Given the description of an element on the screen output the (x, y) to click on. 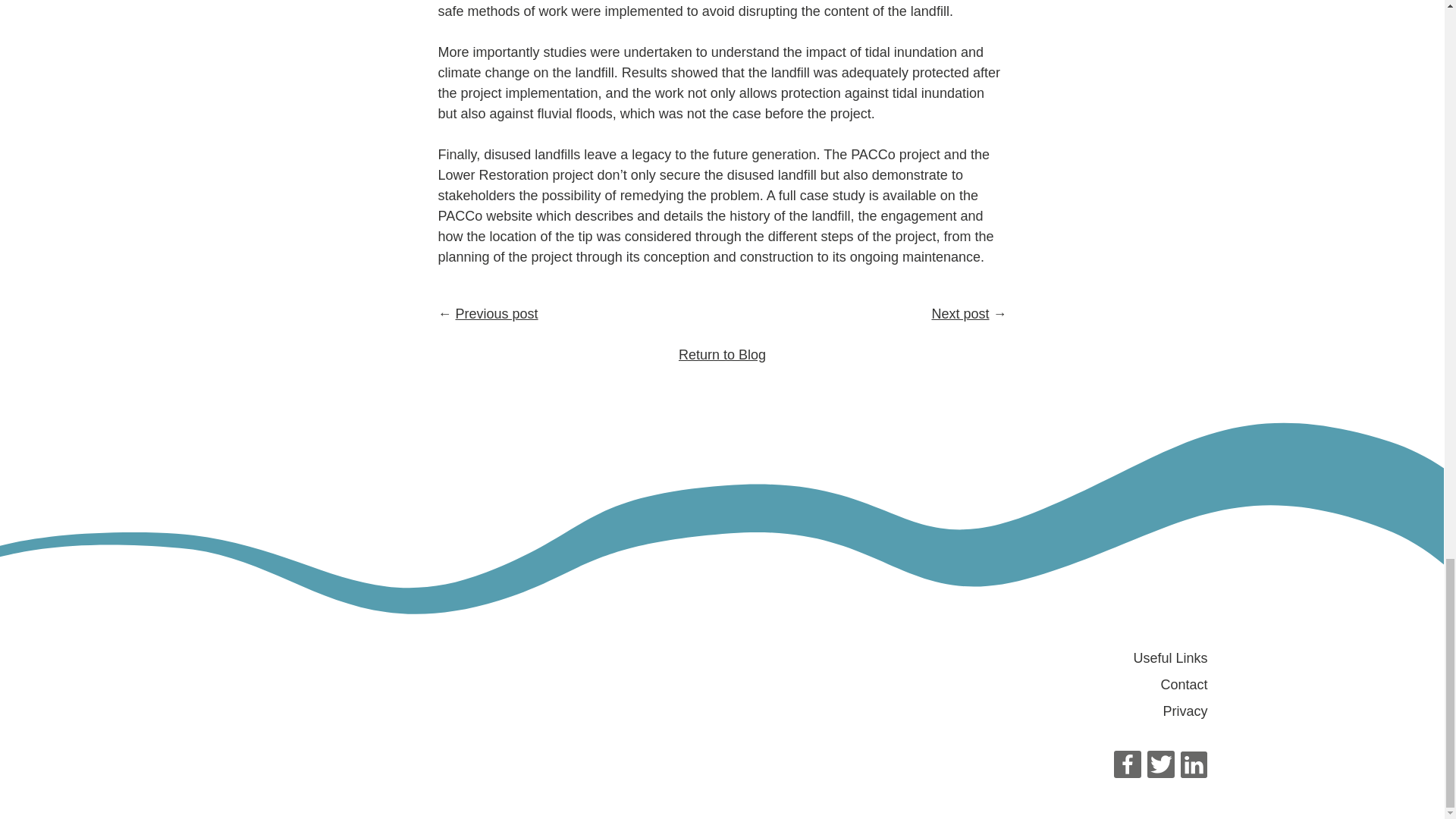
Contact (1183, 684)
Return to Blog (721, 354)
Useful Links (1169, 657)
Next post (959, 313)
Privacy (1184, 711)
Previous post (496, 313)
